Given the description of an element on the screen output the (x, y) to click on. 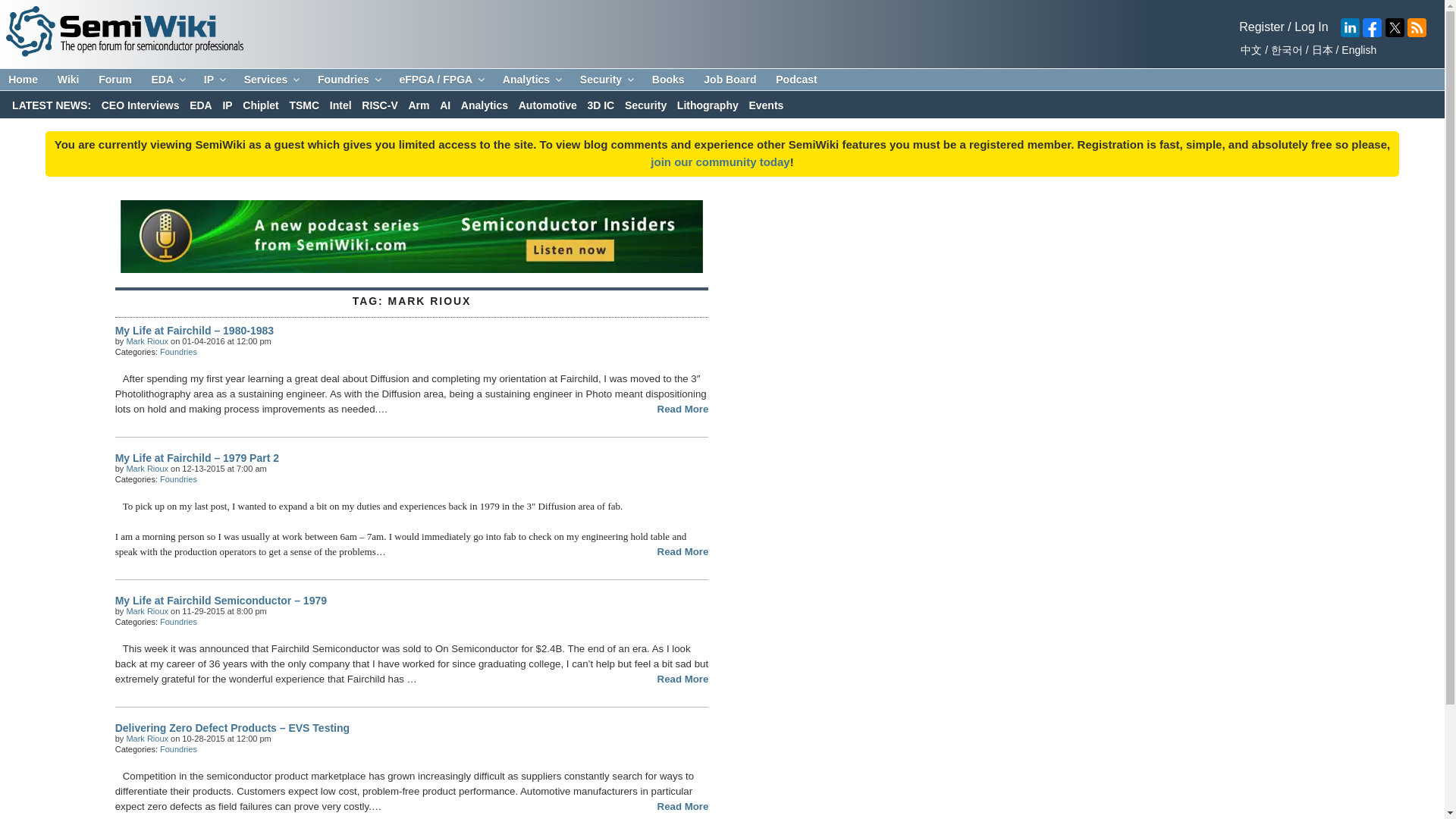
Korean (1284, 50)
English (1356, 50)
Log In (1310, 26)
Japanese (1319, 50)
Login (719, 161)
Login (1310, 26)
Forum (114, 79)
Wiki (68, 79)
Login (1261, 26)
EDA (167, 79)
IP (213, 79)
Register (1261, 26)
Home (23, 79)
